Given the description of an element on the screen output the (x, y) to click on. 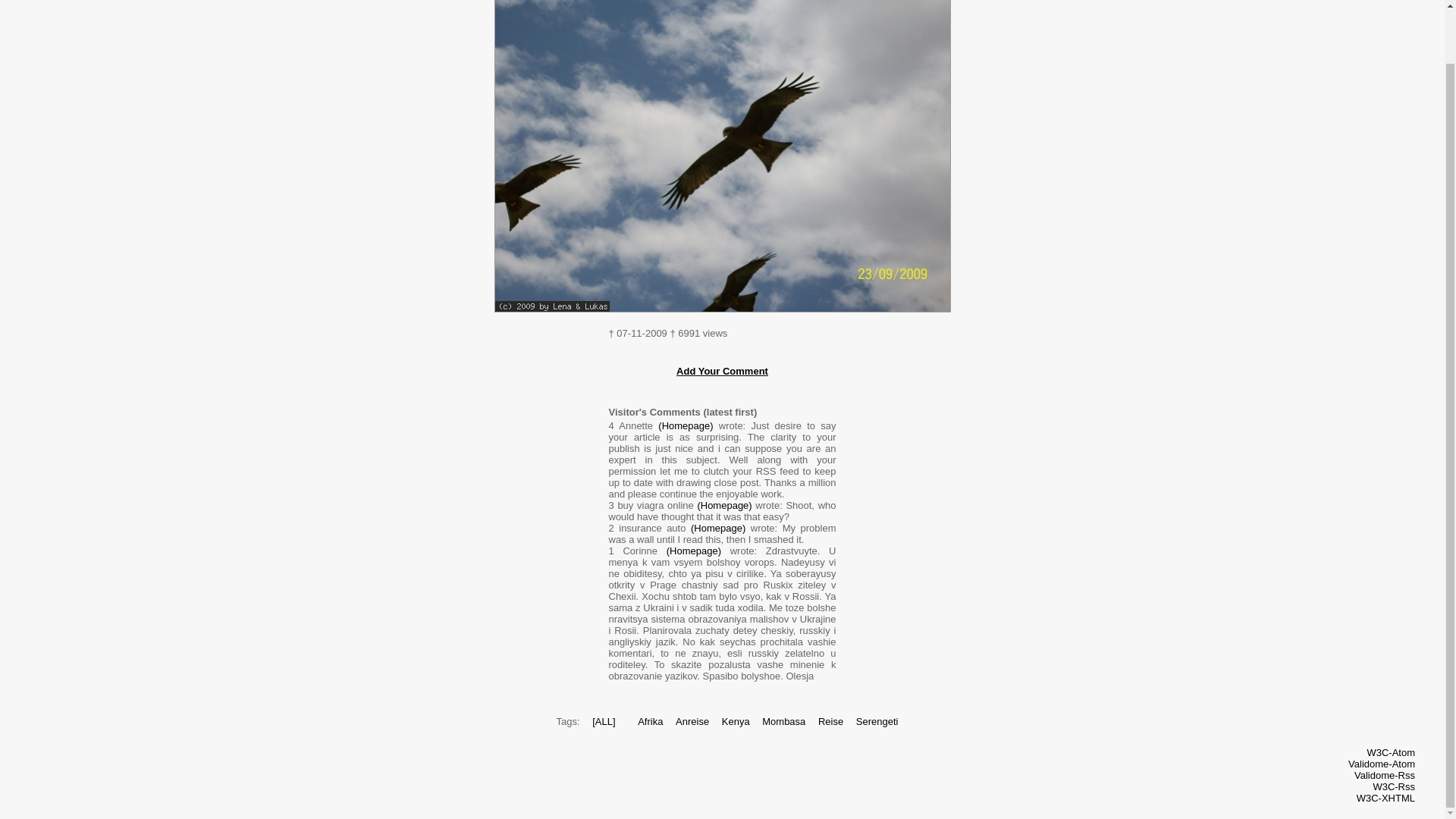
W3C-XHTML (1385, 797)
Anreise (692, 721)
Validome-Rss (1384, 775)
Serengeti (877, 721)
Afrika (649, 721)
Validome-Atom (1381, 763)
W3C-Rss (1394, 786)
Mombasa (783, 721)
Kenya (735, 721)
Add Your Comment (722, 370)
